Given the description of an element on the screen output the (x, y) to click on. 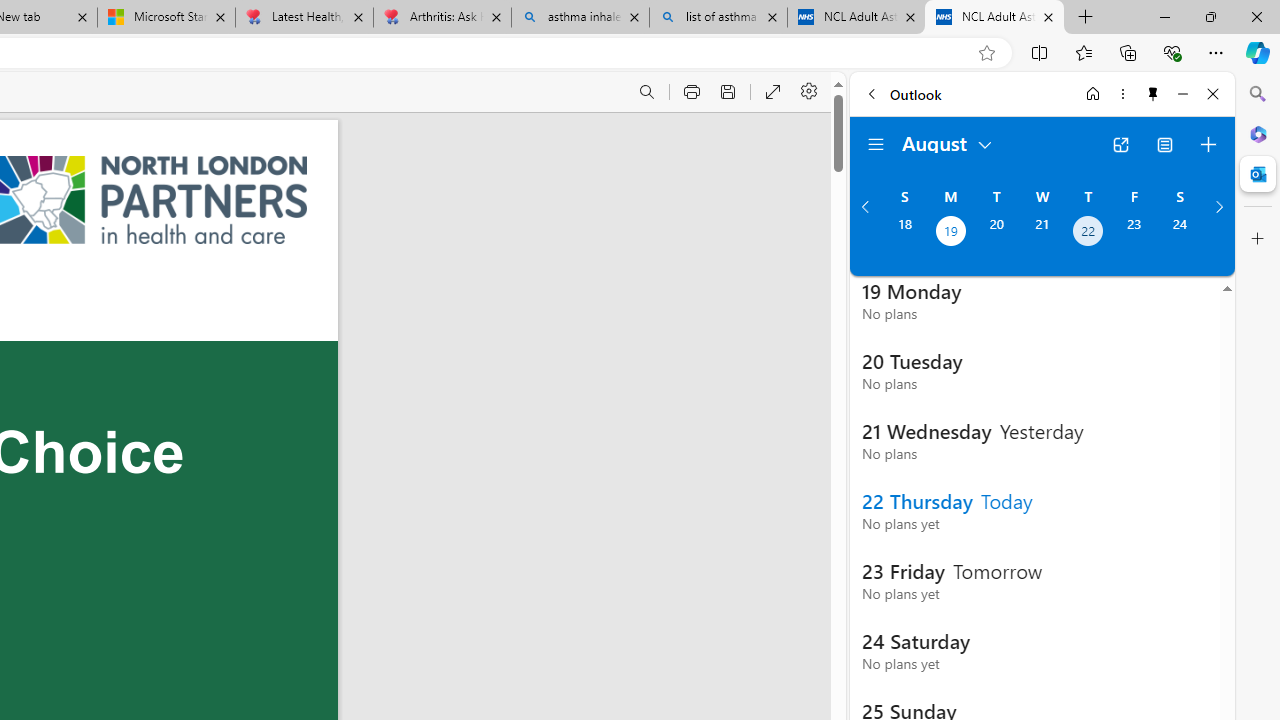
Wednesday, August 21, 2024.  (1042, 233)
Save (Ctrl+S) (728, 92)
